Given the description of an element on the screen output the (x, y) to click on. 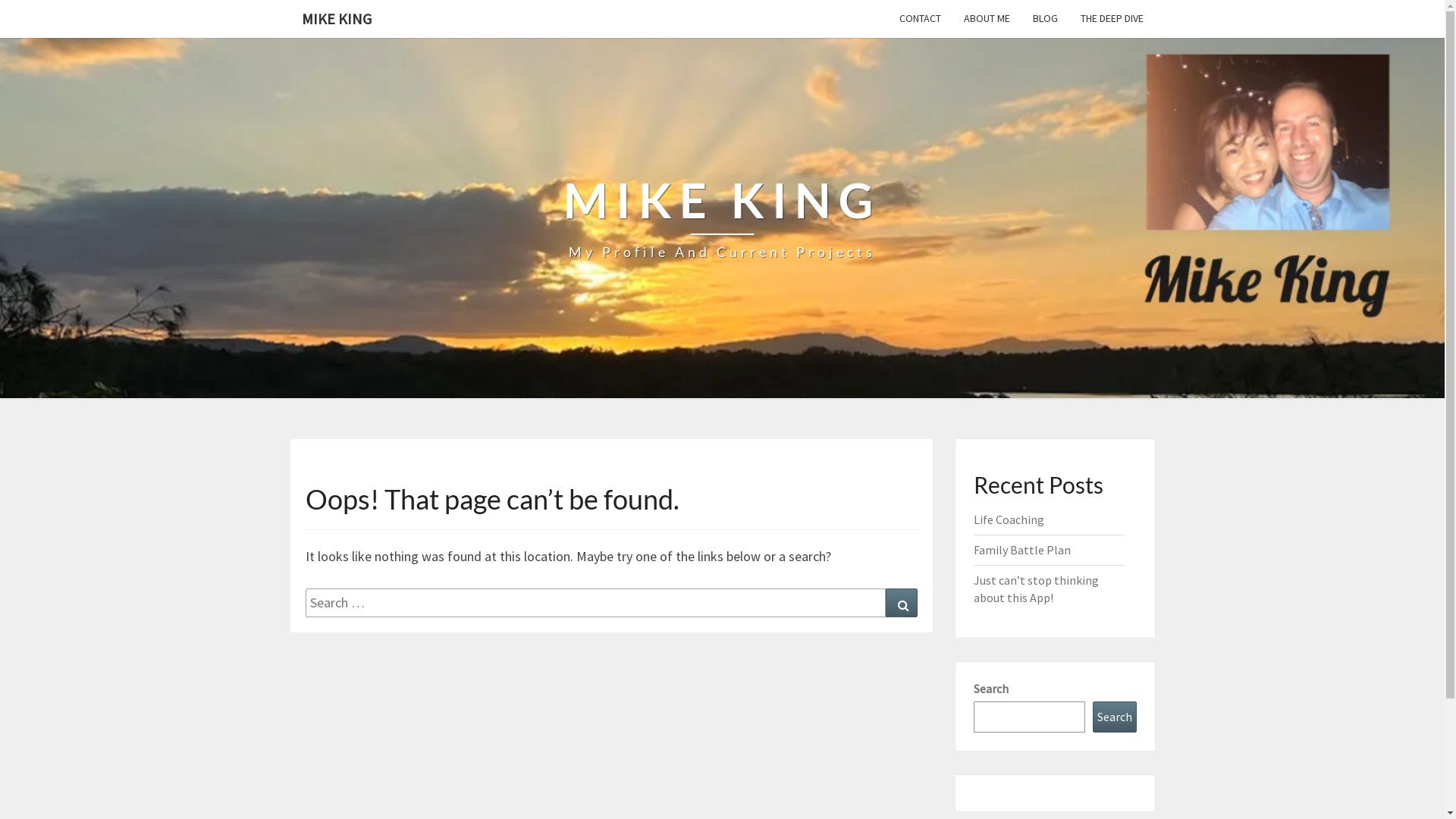
Life Coaching Element type: text (1008, 519)
Search for: Element type: hover (594, 602)
Search Element type: text (1113, 716)
MIKE KING Element type: text (335, 18)
CONTACT Element type: text (919, 18)
THE DEEP DIVE Element type: text (1111, 18)
Family Battle Plan Element type: text (1021, 549)
MIKE KING
My Profile And Current Projects Element type: text (722, 217)
ABOUT ME Element type: text (986, 18)
Search Element type: text (901, 602)
BLOG Element type: text (1044, 18)
